Given the description of an element on the screen output the (x, y) to click on. 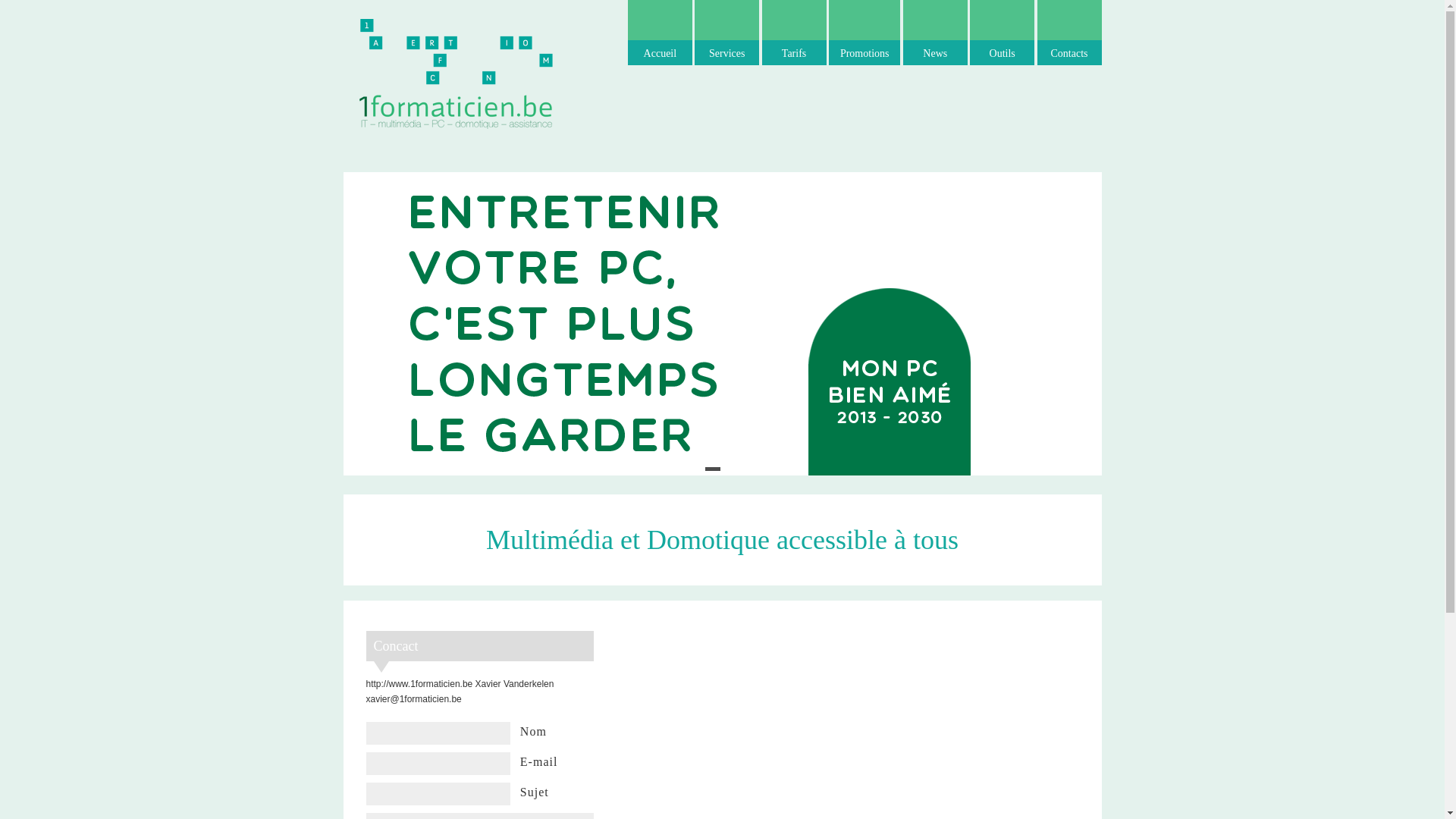
Contacts Element type: text (1069, 32)
Promotions Element type: text (864, 32)
1Formaticien Element type: hover (456, 71)
News Element type: text (935, 32)
Outils Element type: text (1001, 32)
Tarifs Element type: text (794, 32)
Accueil Element type: text (659, 32)
Services Element type: text (726, 32)
